Given the description of an element on the screen output the (x, y) to click on. 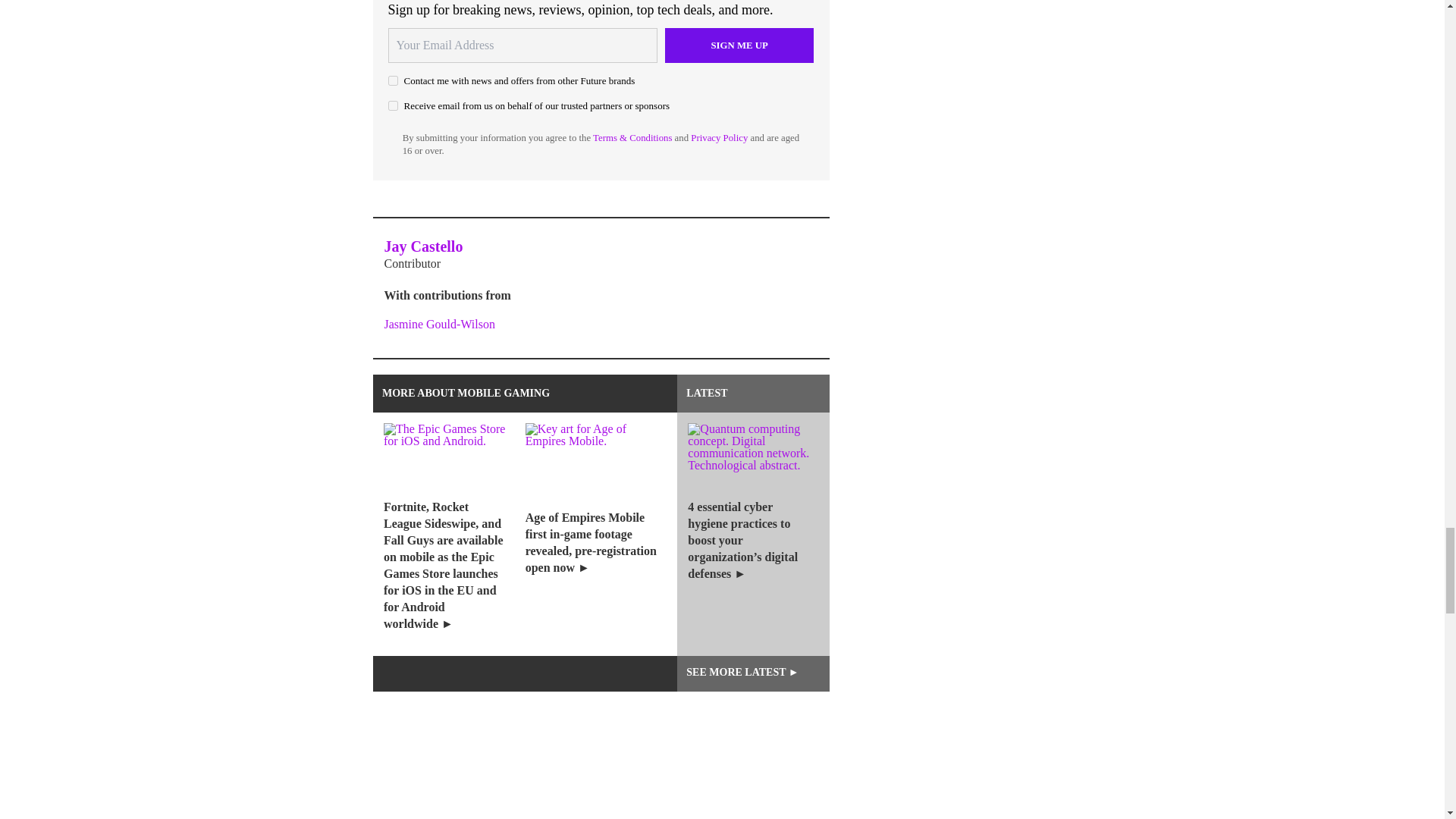
on (392, 80)
Sign me up (739, 45)
on (392, 105)
